Given the description of an element on the screen output the (x, y) to click on. 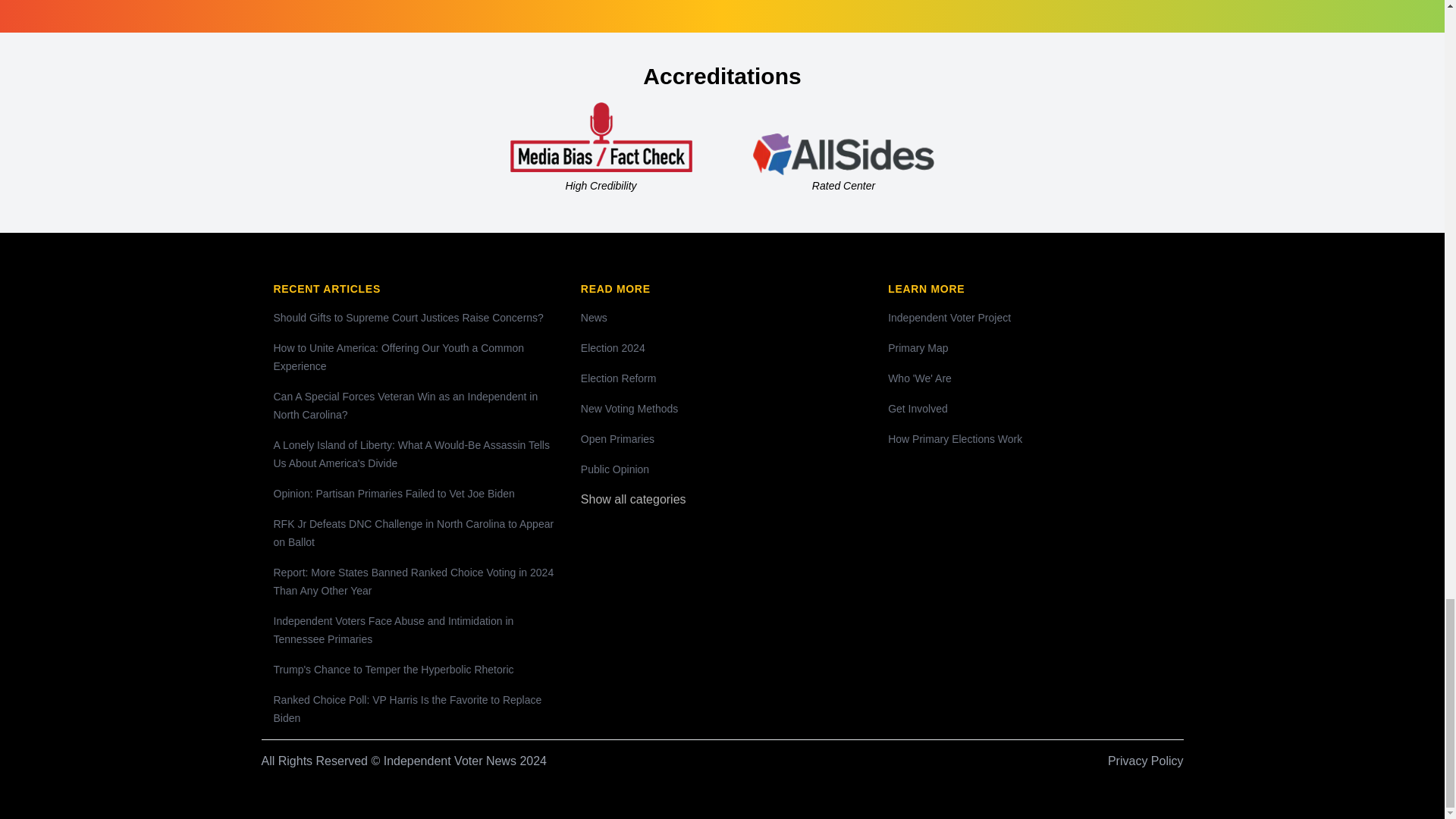
Should Gifts to Supreme Court Justices Raise Concerns? (408, 317)
